Given the description of an element on the screen output the (x, y) to click on. 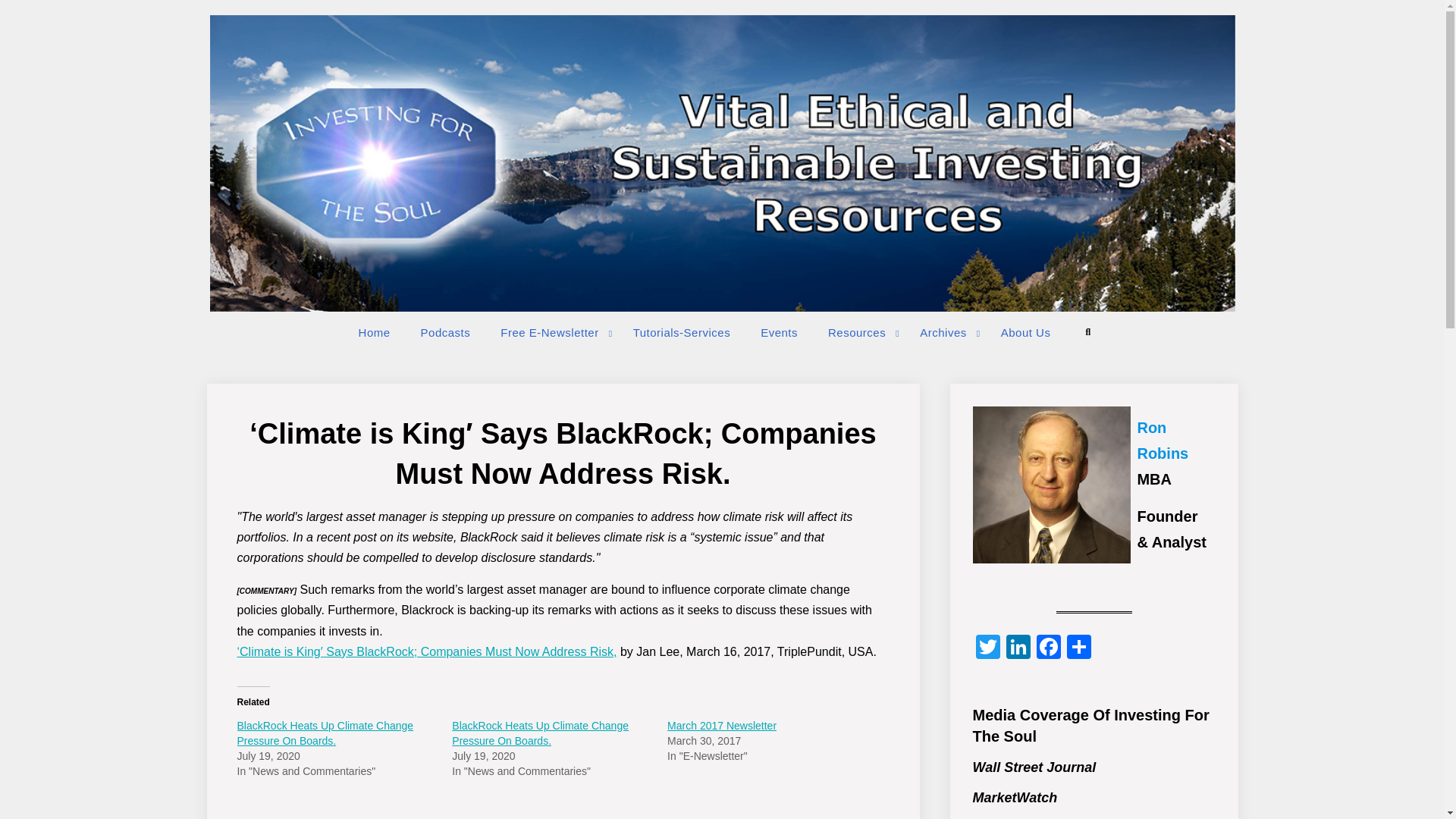
BlackRock Heats Up Climate Change Pressure On Boards. (324, 732)
Resources (858, 332)
March 2017 Newsletter (721, 725)
BlackRock Heats Up Climate Change Pressure On Boards. (324, 732)
Twitter (987, 648)
Search (1087, 332)
Facebook (1047, 648)
About Us (1025, 332)
Home (374, 332)
LinkedIn (1017, 648)
Archives (944, 332)
Facebook (1047, 648)
BlackRock Heats Up Climate Change Pressure On Boards. (539, 732)
Free E-Newsletter (550, 332)
